Given the description of an element on the screen output the (x, y) to click on. 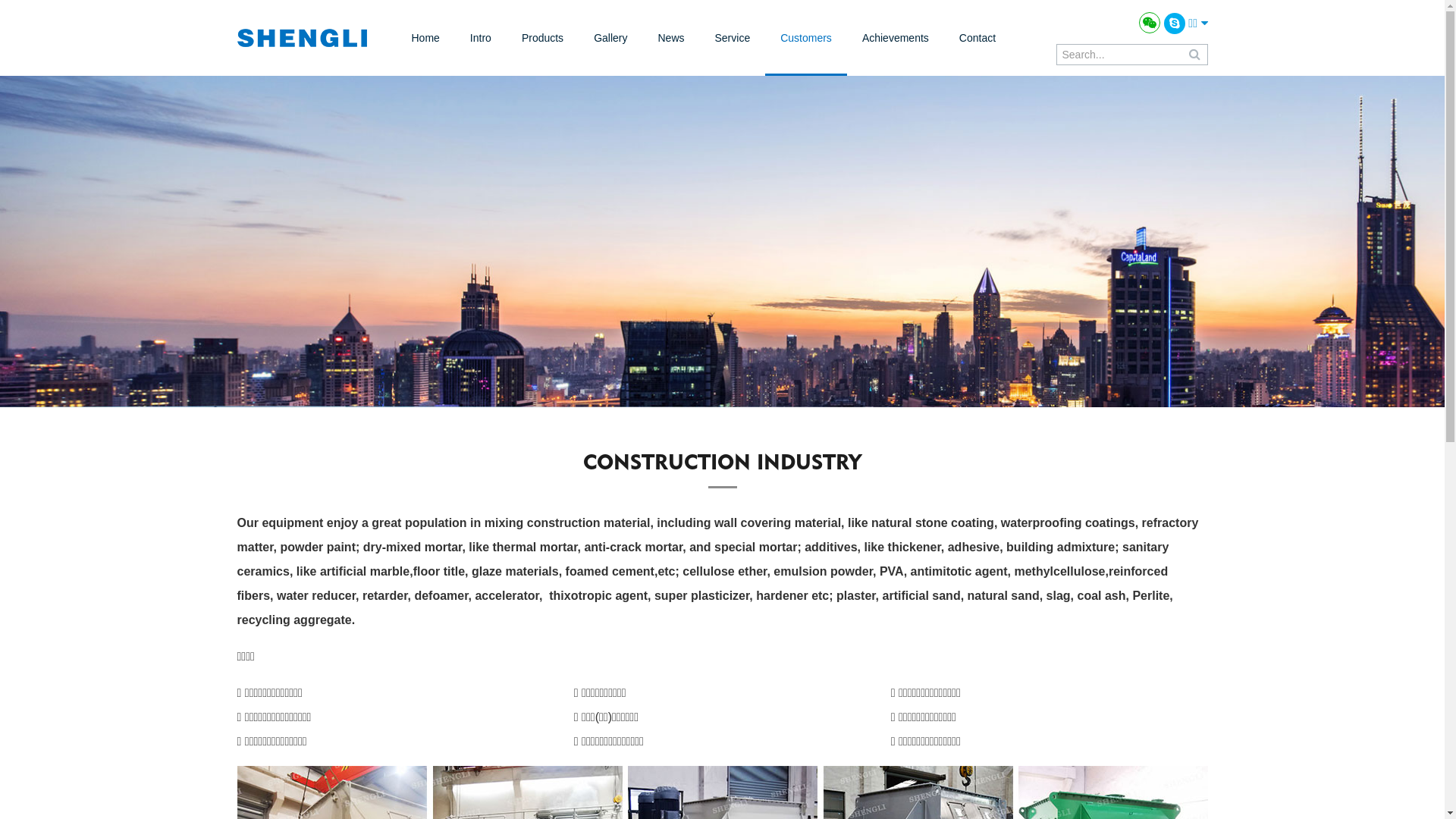
News Element type: text (670, 37)
Achievements Element type: text (895, 37)
Contact Element type: text (977, 37)
Intro Element type: text (480, 37)
Gallery Element type: text (610, 37)
Customers Element type: text (805, 37)
Home Element type: text (425, 37)
Products Element type: text (542, 37)
Service Element type: text (731, 37)
